Given the description of an element on the screen output the (x, y) to click on. 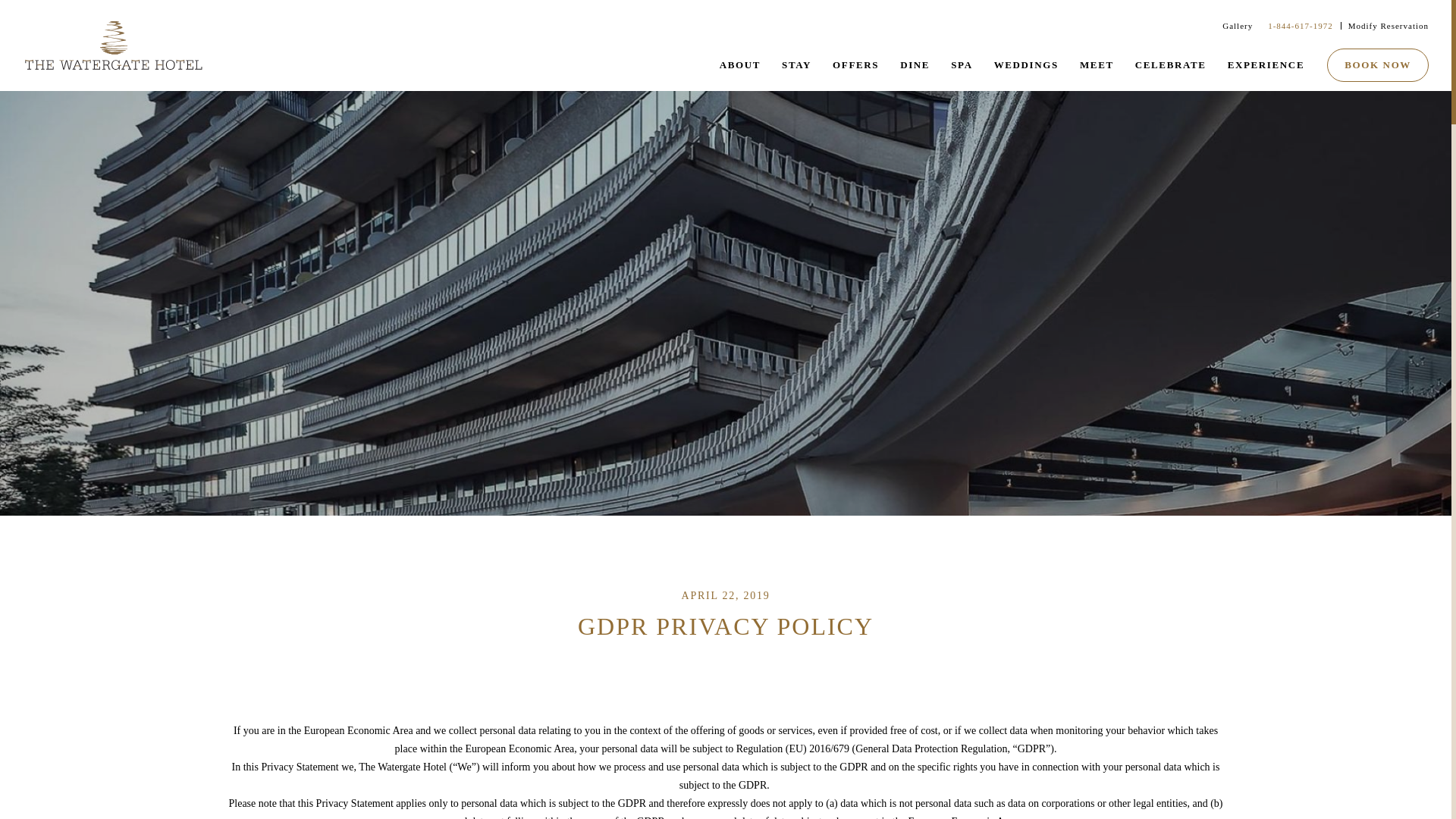
CELEBRATE (1171, 70)
1-844-617-1972 (1296, 25)
Modify Reservation (1384, 25)
Gallery (1233, 25)
WEDDINGS (1026, 70)
OFFERS (855, 70)
EXPERIENCE (1265, 70)
ABOUT (739, 70)
